Given the description of an element on the screen output the (x, y) to click on. 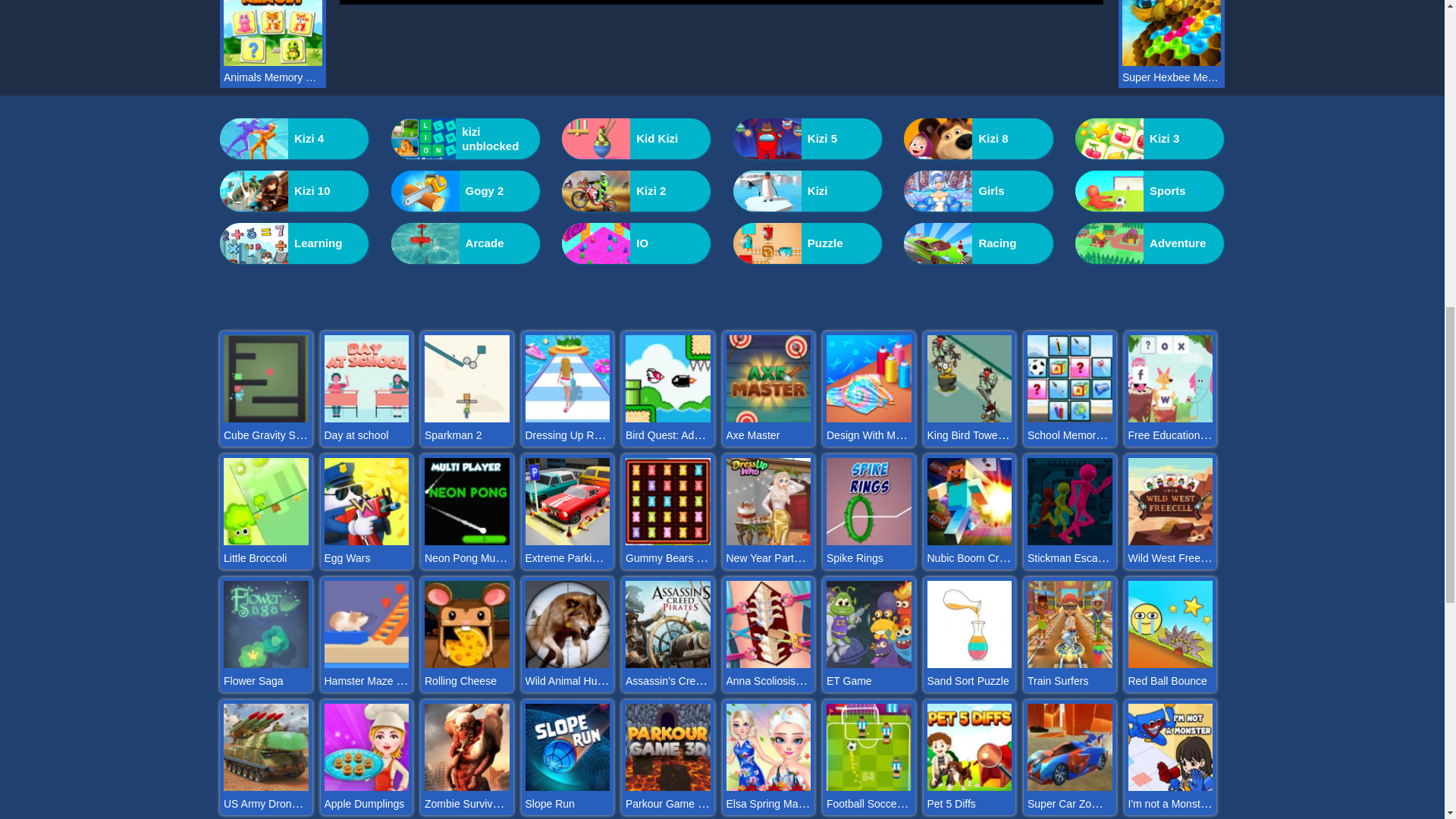
Animals Memory Match (272, 77)
kizi unblocked (465, 137)
Kid Kizi (636, 137)
Super Hexbee Merger (1171, 77)
Kizi 5 (807, 137)
Kizi 4 (293, 137)
